Given the description of an element on the screen output the (x, y) to click on. 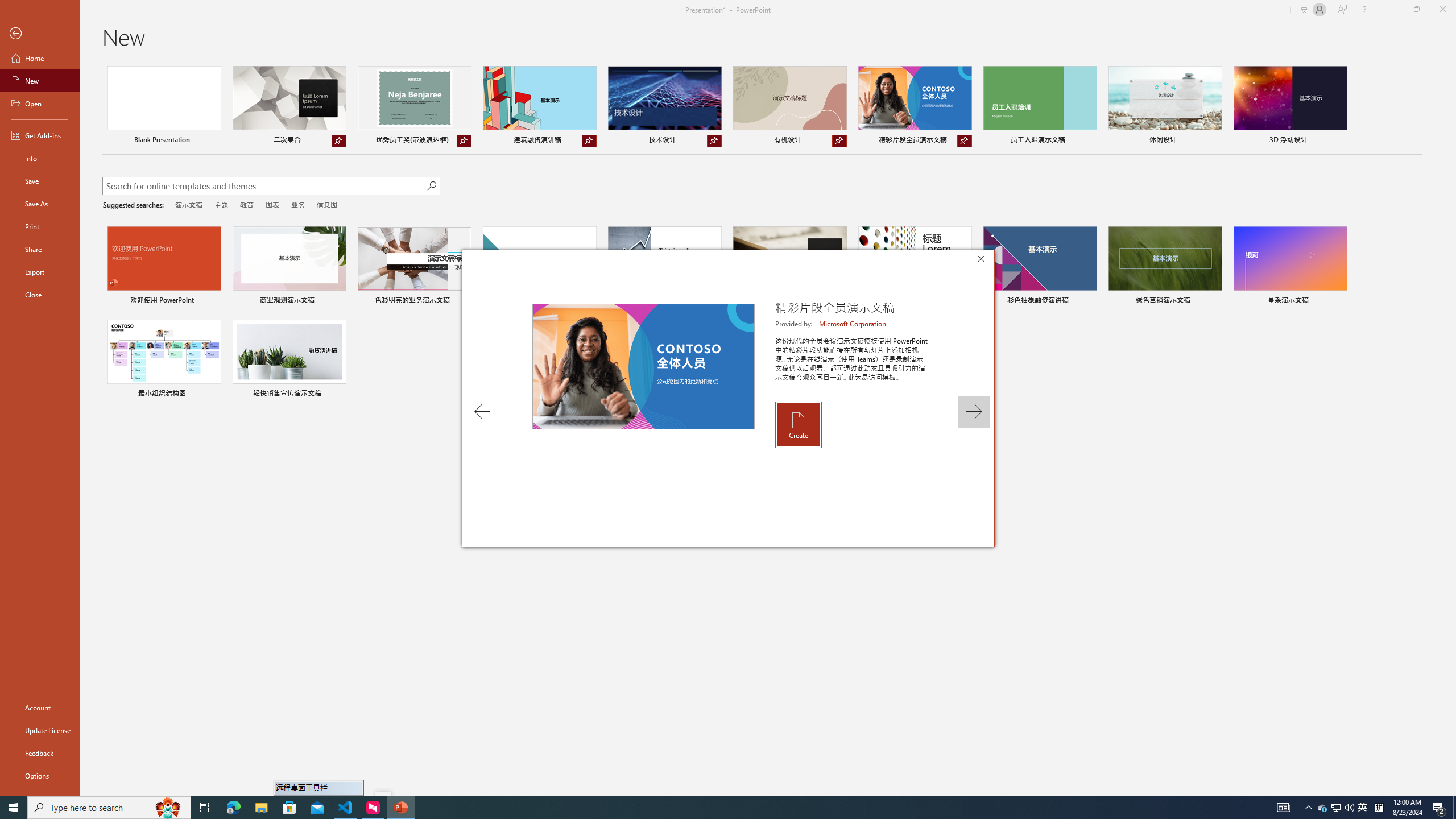
Create (797, 424)
New (40, 80)
Update License (40, 730)
Back (40, 33)
Feedback (40, 753)
Microsoft Corporation (853, 323)
